Given the description of an element on the screen output the (x, y) to click on. 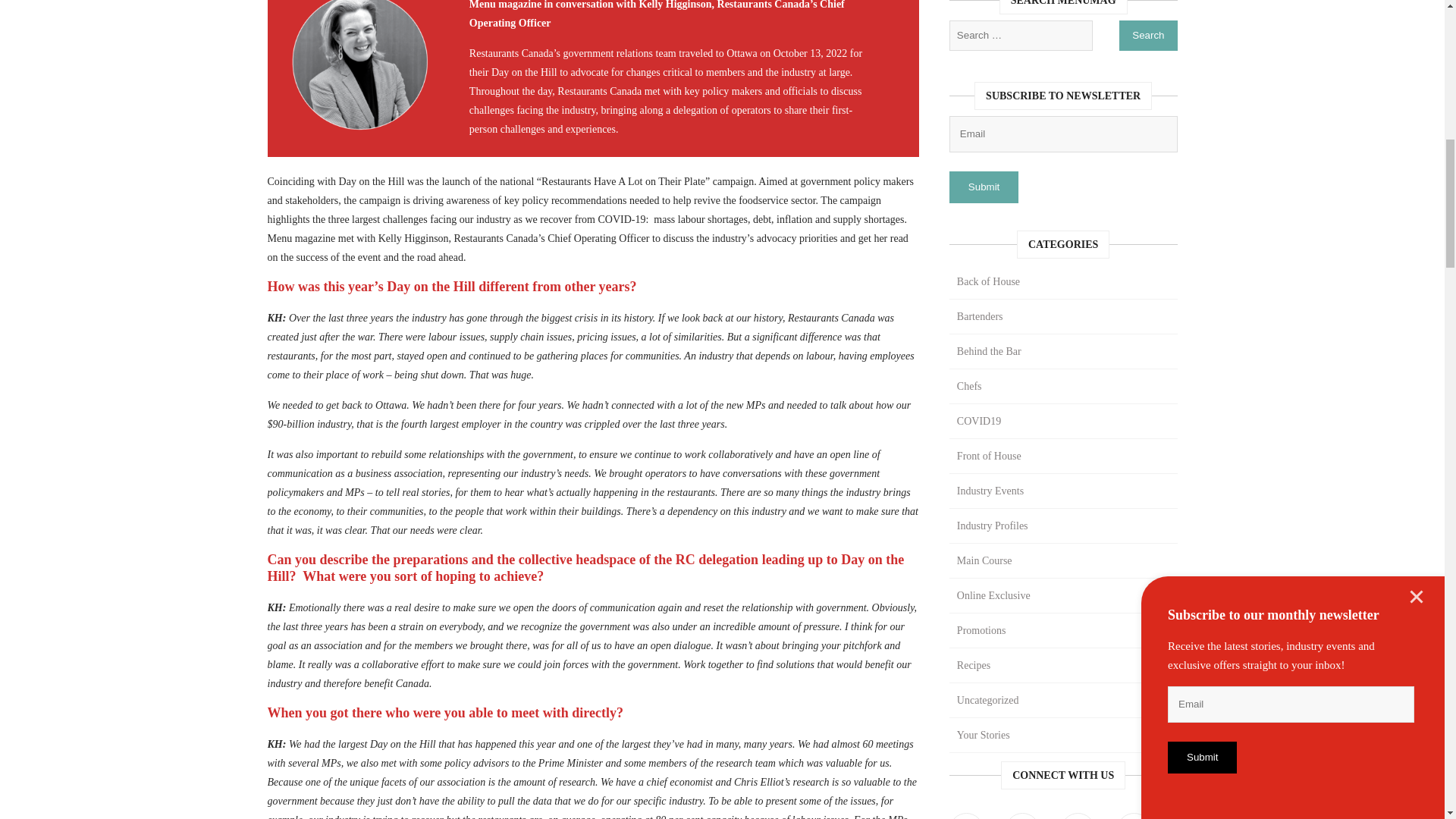
Search (1147, 35)
linkedin (1077, 816)
Submit (983, 187)
Twitter (1022, 816)
Search (1147, 35)
youtube (1133, 816)
Facebook (966, 816)
